Given the description of an element on the screen output the (x, y) to click on. 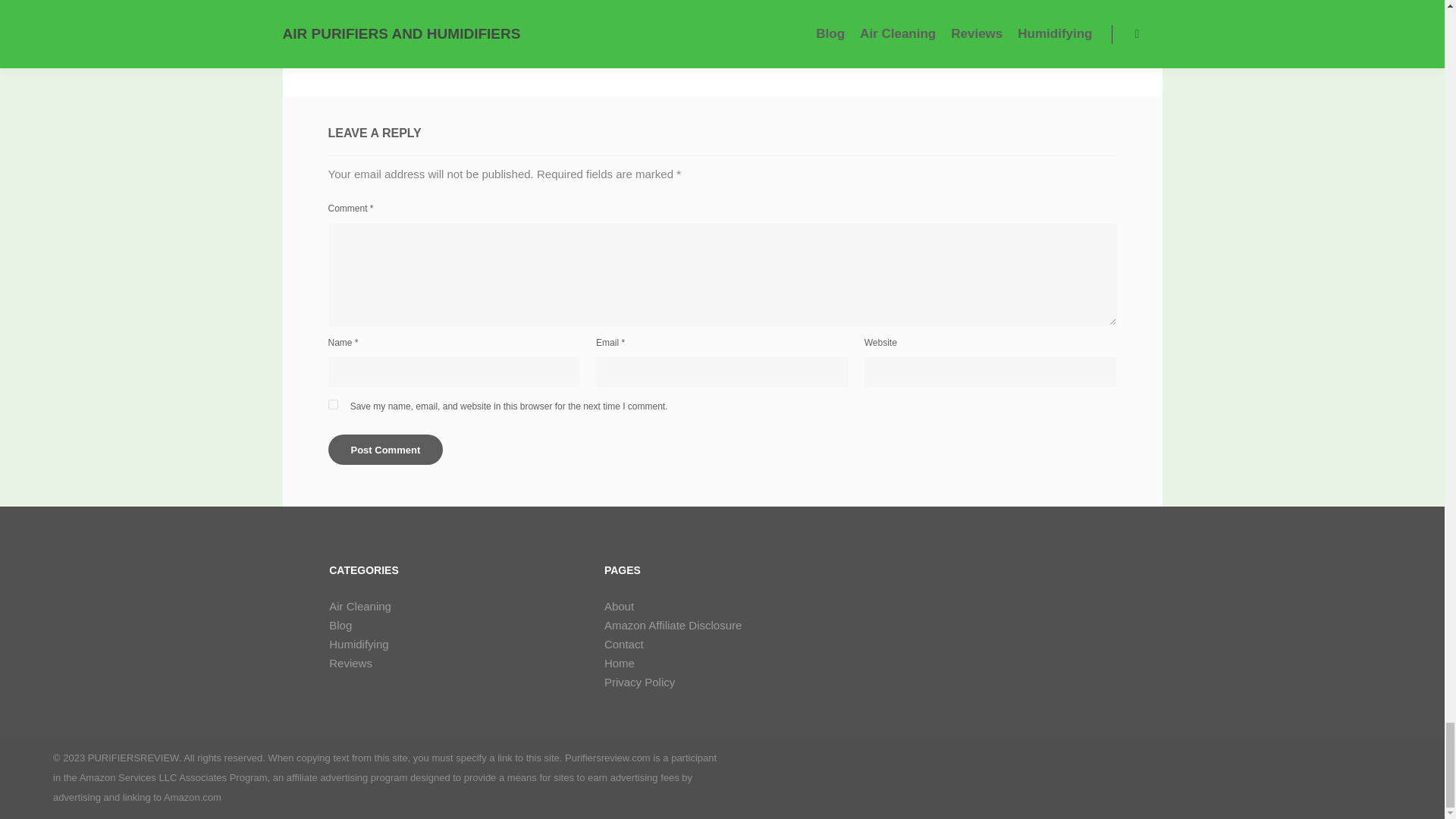
yes (332, 404)
Post Comment (384, 449)
